Given the description of an element on the screen output the (x, y) to click on. 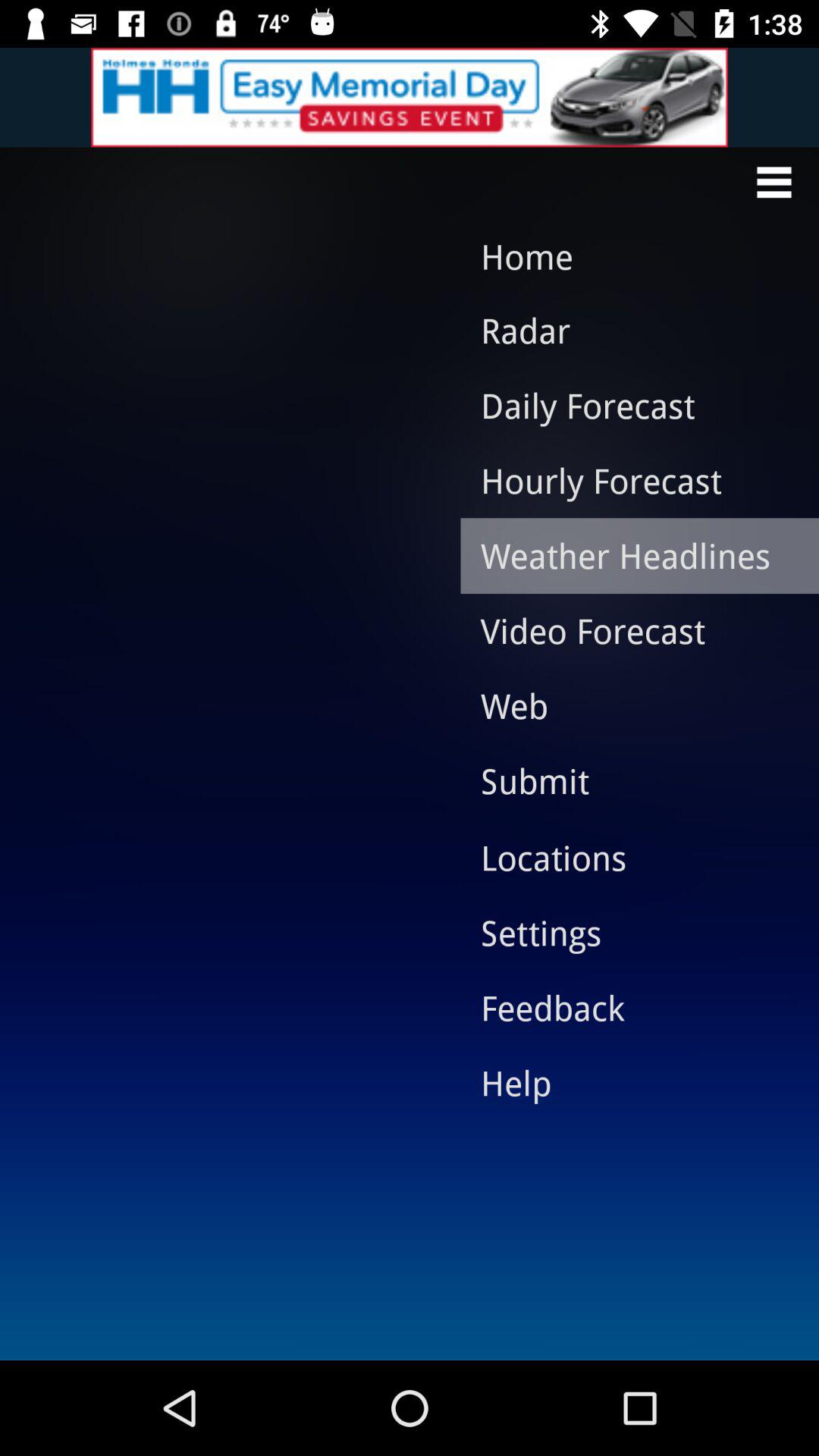
turn off item above the settings (627, 857)
